Given the description of an element on the screen output the (x, y) to click on. 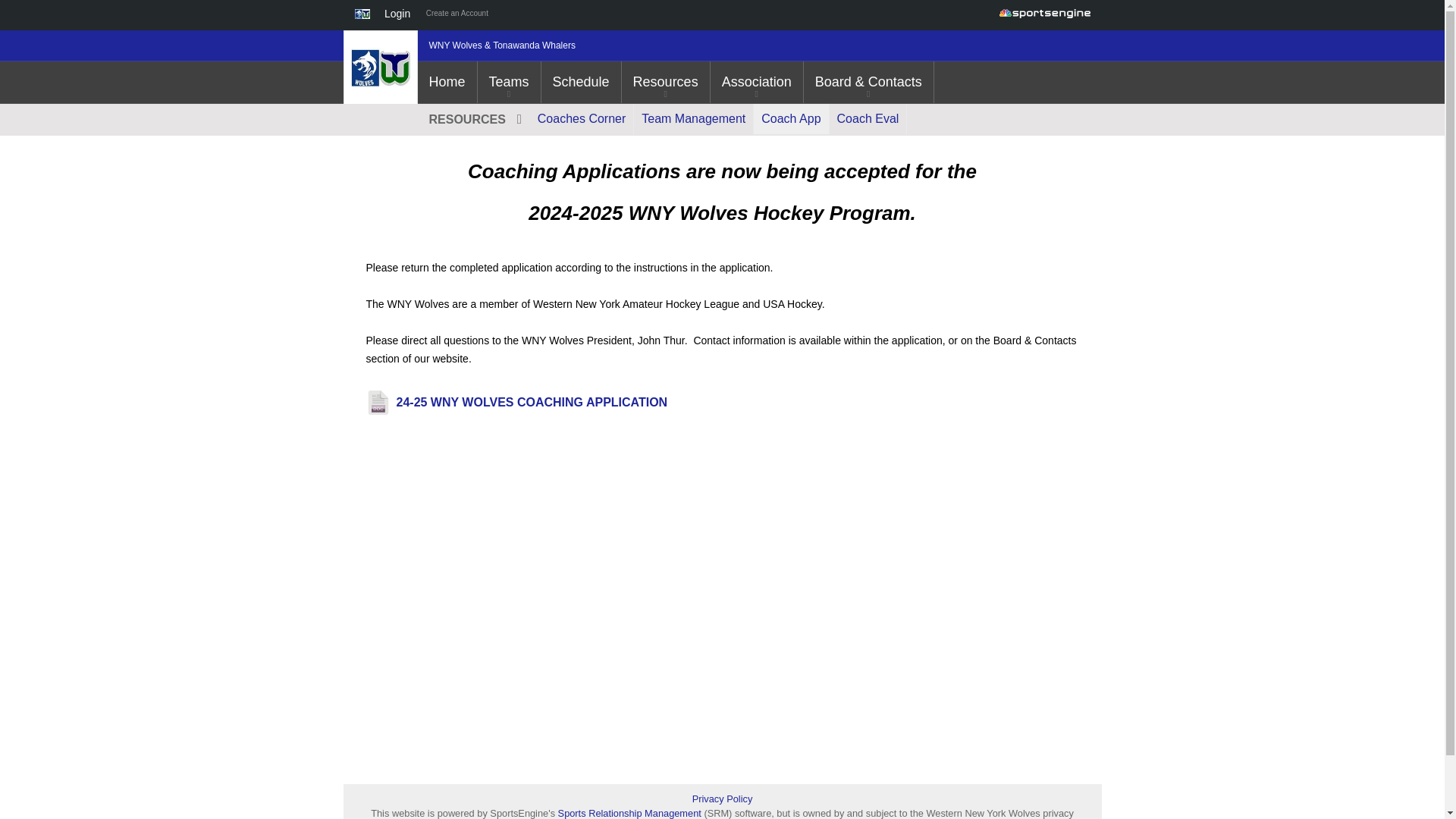
Privacy Policy (722, 798)
Coach App (791, 119)
click to go to '2018-19 Coaching Application' (791, 119)
Create an Account (457, 15)
RESOURCES (472, 119)
click to go to 'Schedule' (581, 82)
Create an Account (457, 15)
click to go to 'Teams' (508, 82)
Resources (665, 82)
